Given the description of an element on the screen output the (x, y) to click on. 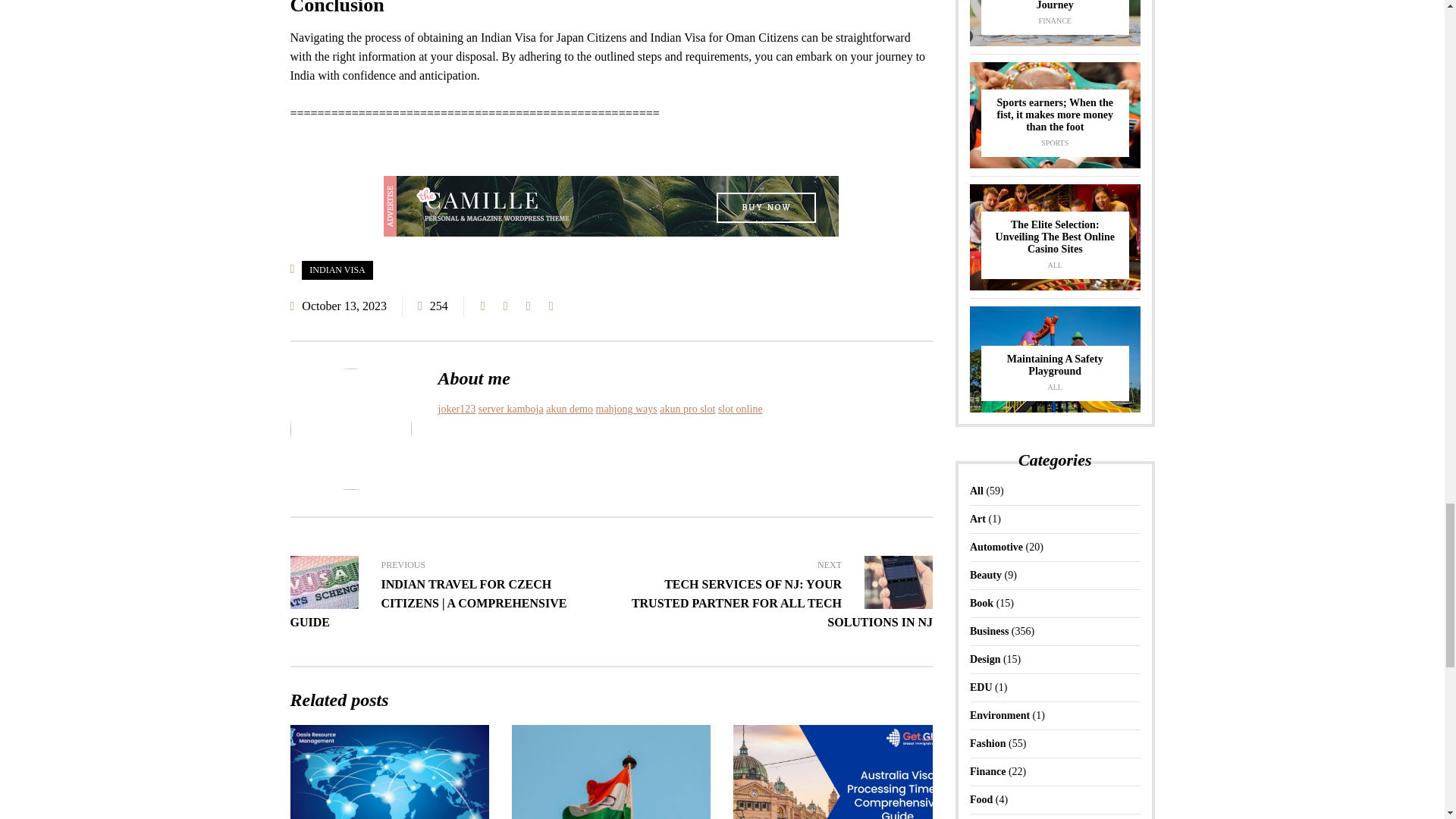
Pin this (551, 305)
Share with Google Plus (528, 305)
Tweet this (505, 305)
Post views (433, 305)
Share this (483, 305)
